Given the description of an element on the screen output the (x, y) to click on. 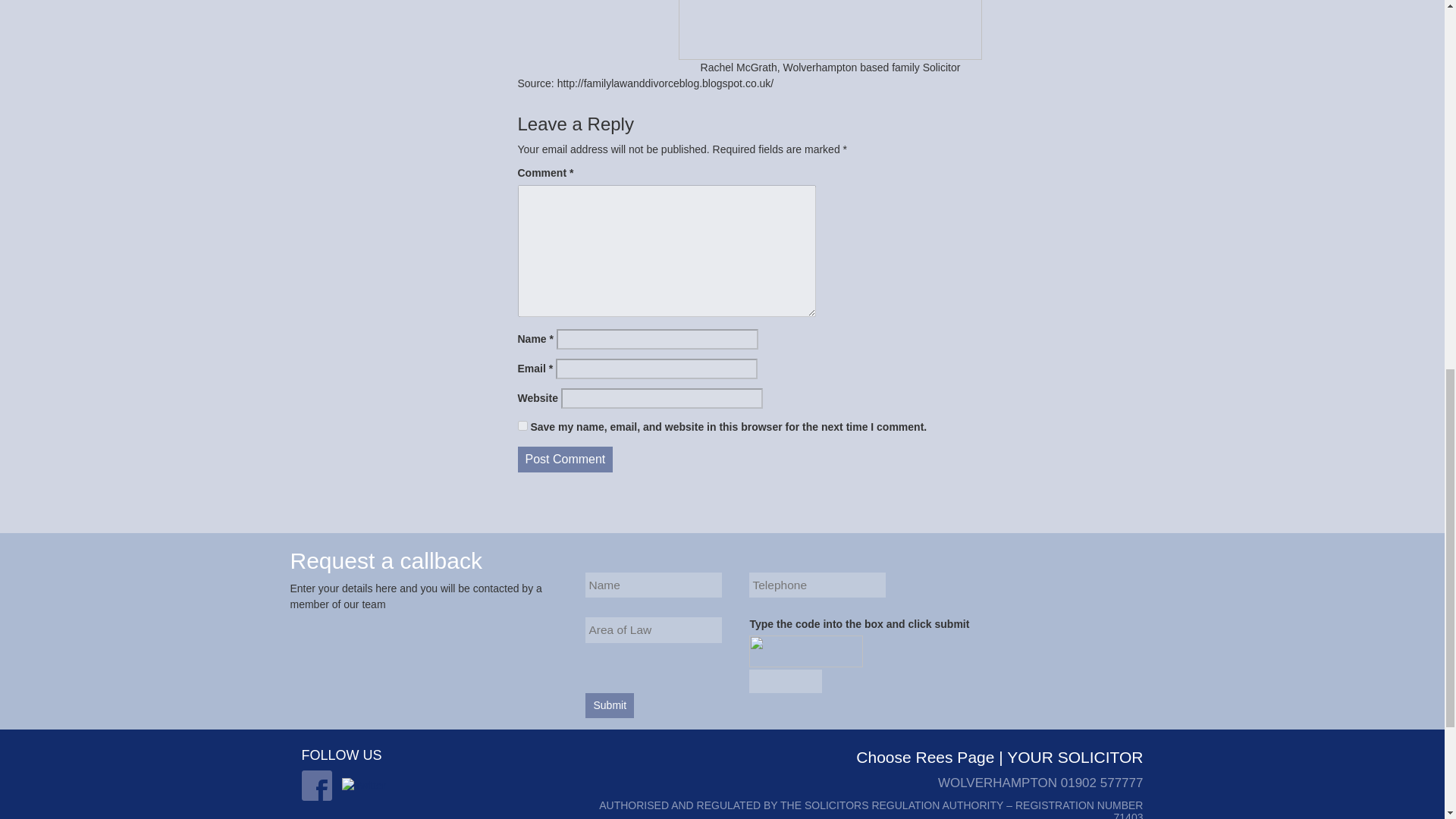
Submit (609, 705)
Follow us on Twitter (363, 785)
yes (521, 425)
Post Comment (564, 459)
Follow us on Facebook (316, 785)
